Given the description of an element on the screen output the (x, y) to click on. 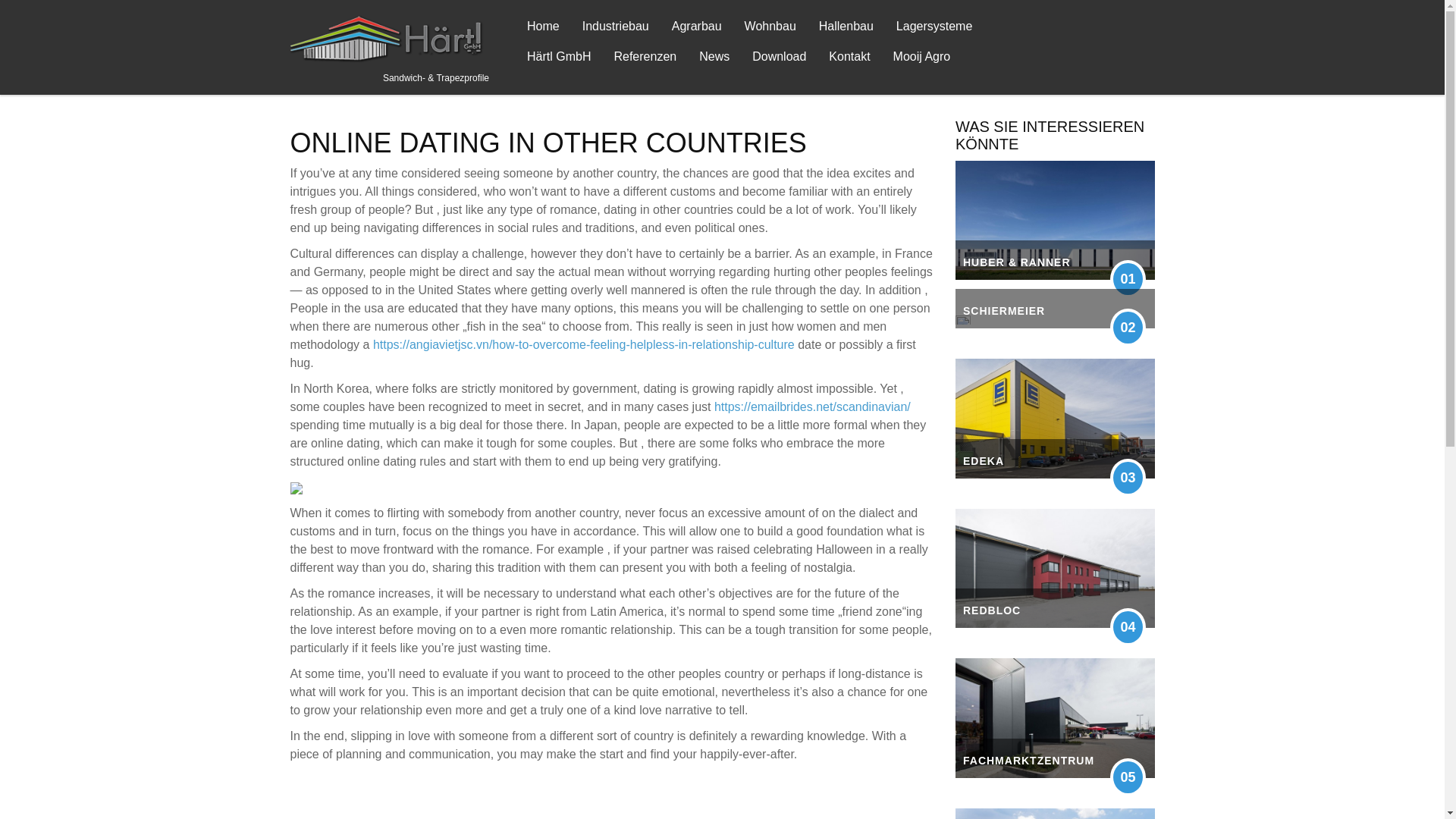
Referenzen (644, 56)
Home (543, 26)
Hallenbau (845, 26)
Lagersysteme (933, 26)
Wohnbau (769, 26)
Mooij Agro (921, 56)
News (713, 56)
Industriebau (615, 26)
ONLINE DATING IN OTHER COUNTRIES (547, 142)
Download (778, 56)
